Given the description of an element on the screen output the (x, y) to click on. 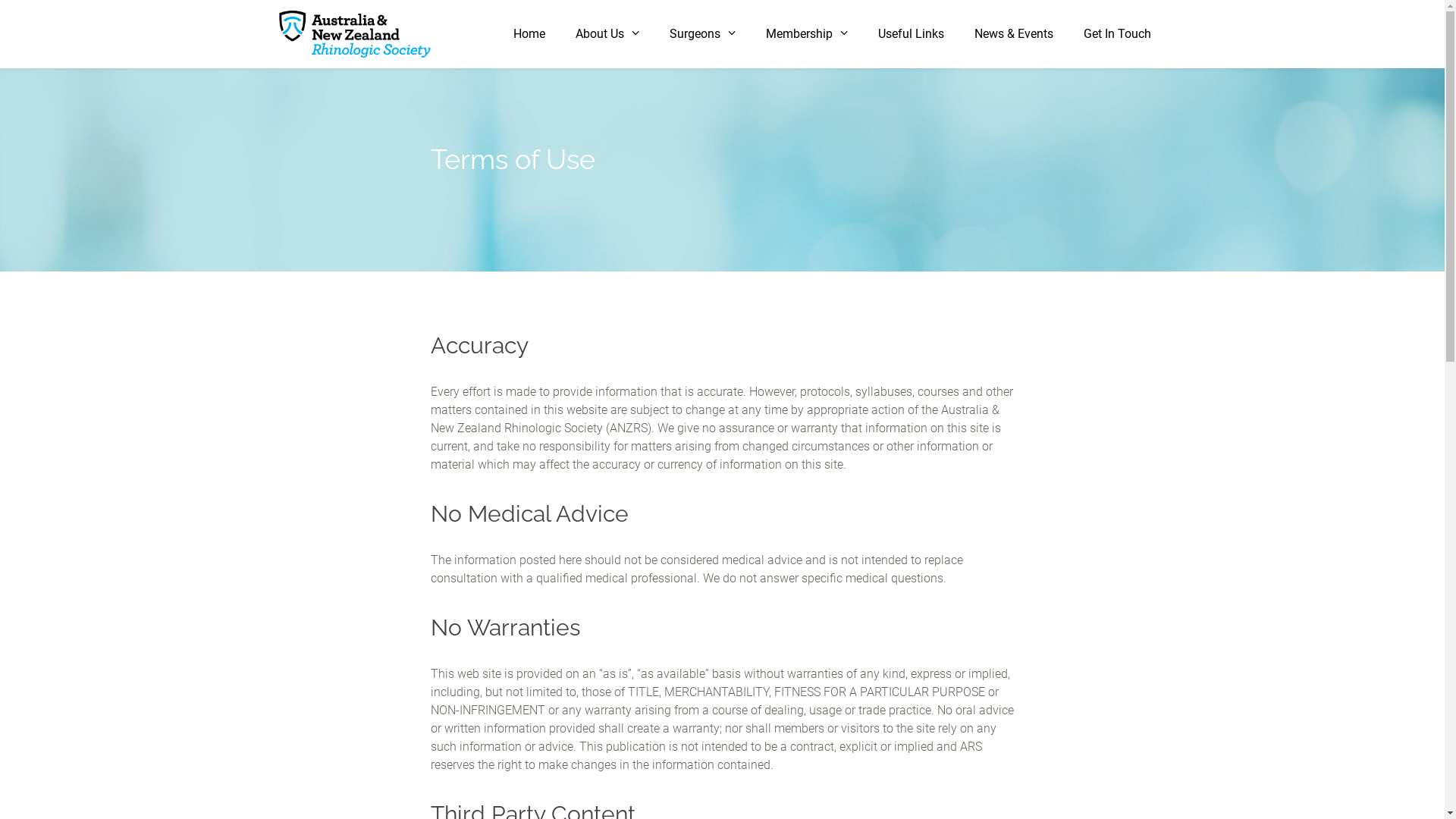
Home Element type: text (528, 34)
Australia and New Zealand Rhinologic Society Element type: hover (354, 34)
Useful Links Element type: text (910, 34)
Surgeons Element type: text (701, 34)
News & Events Element type: text (1012, 34)
About Us Element type: text (606, 34)
Get In Touch Element type: text (1116, 34)
Membership Element type: text (806, 34)
